Given the description of an element on the screen output the (x, y) to click on. 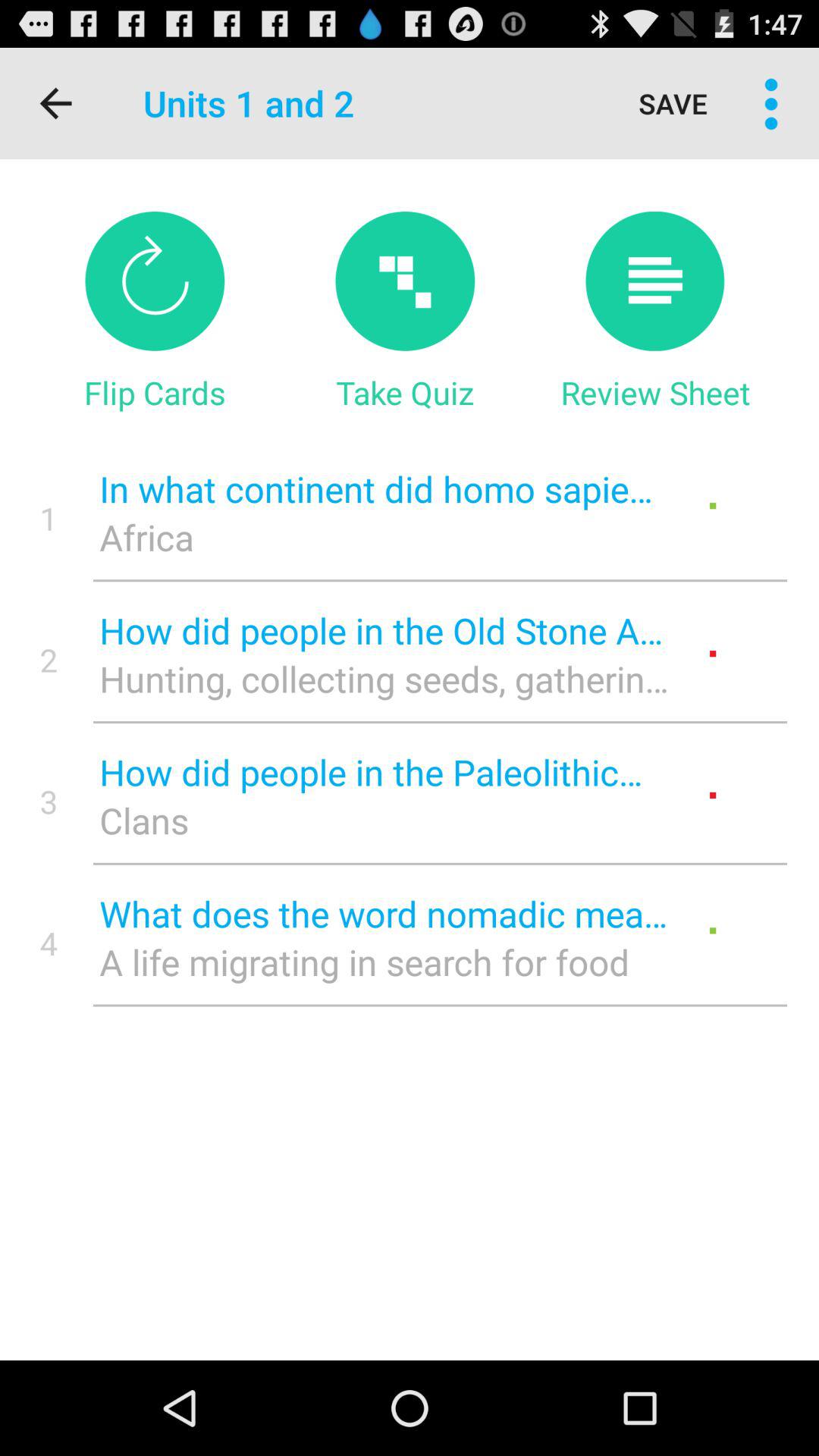
choose the item next to the 4 (384, 961)
